Given the description of an element on the screen output the (x, y) to click on. 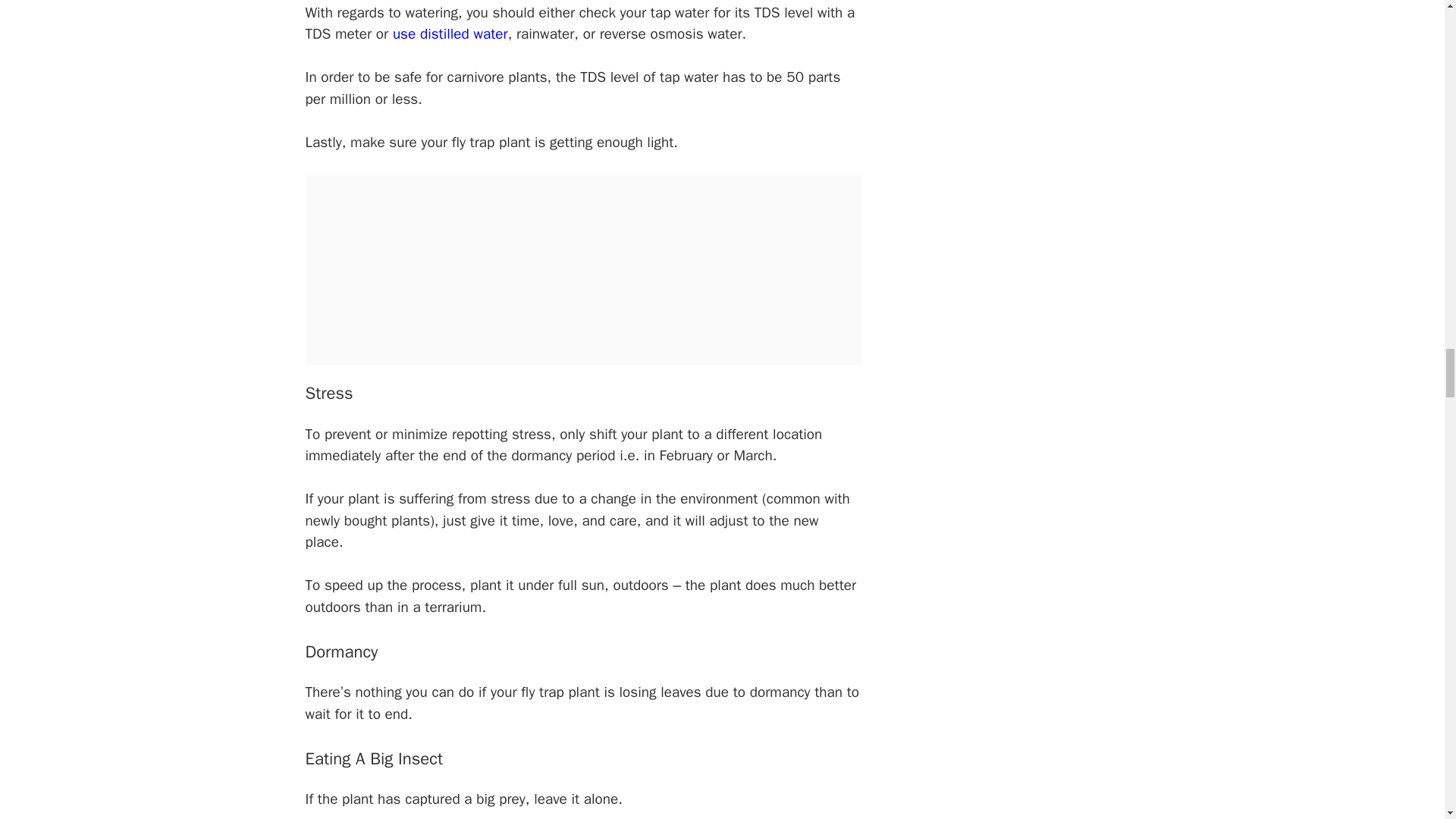
use distilled water (450, 34)
